Given the description of an element on the screen output the (x, y) to click on. 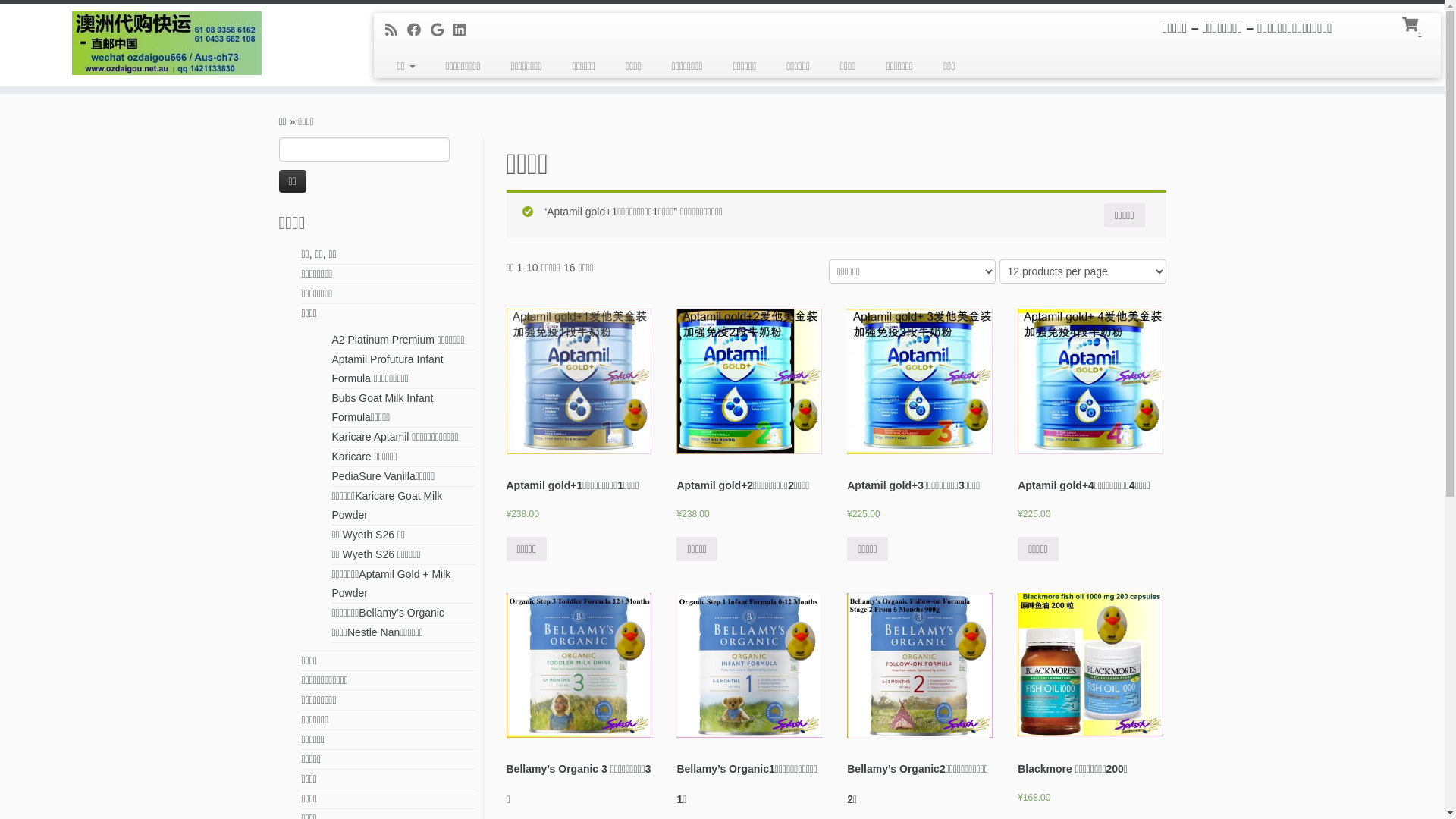
Skip to content Element type: text (0, 94)
Follow me on Facebook Element type: hover (418, 29)
Follow me on LinkedIn Element type: hover (464, 29)
Subscribe to my rss feed Element type: hover (396, 29)
1 Element type: text (1411, 22)
Follow me on Google+ Element type: hover (441, 29)
